Given the description of an element on the screen output the (x, y) to click on. 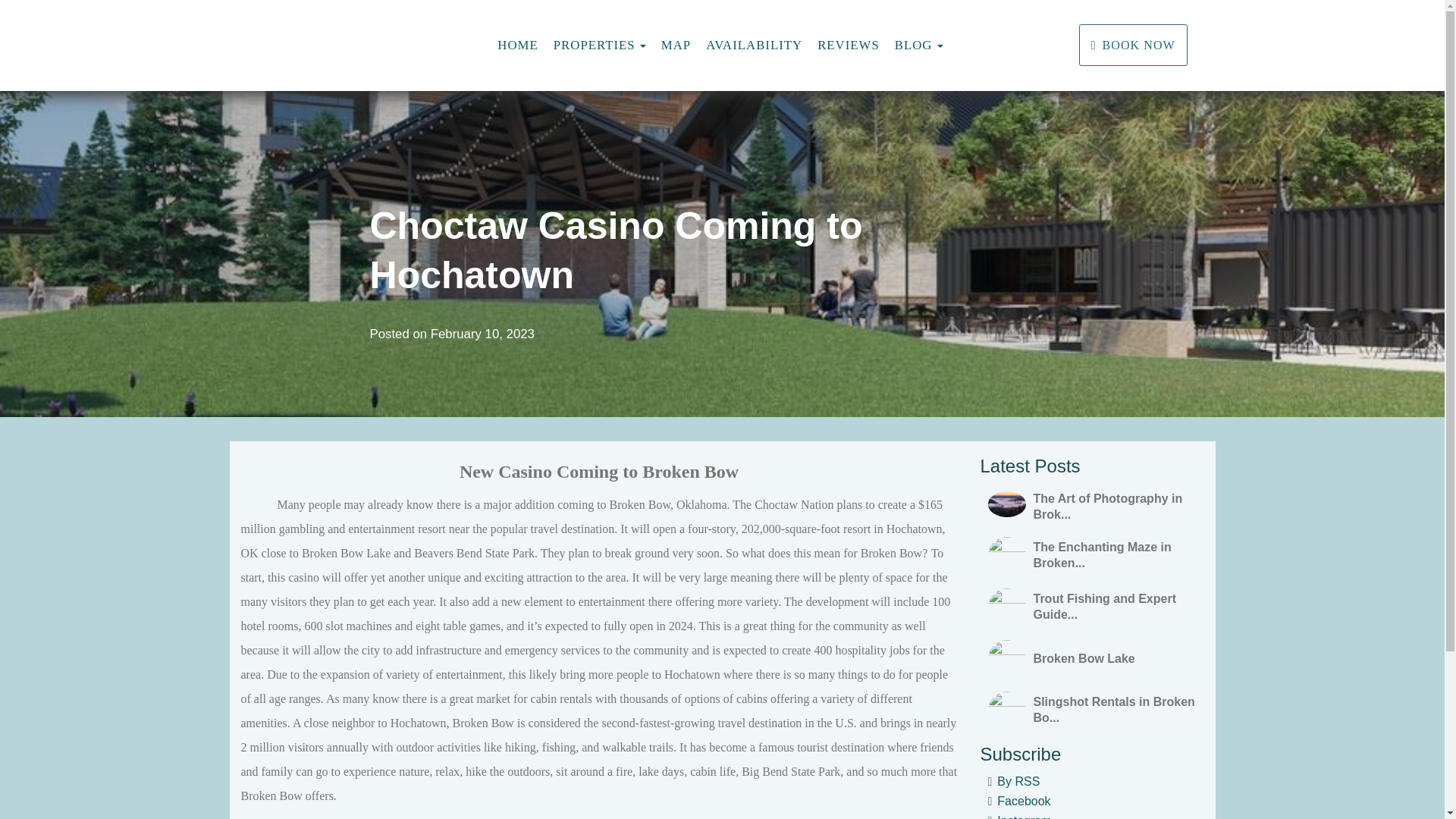
BLOG (914, 46)
AVAILABILITY (754, 44)
PROPERTIES (593, 46)
My Vacation Escape (401, 45)
BOOK NOW (1133, 45)
MAP (675, 44)
REVIEWS (847, 44)
HOME (517, 44)
